Given the description of an element on the screen output the (x, y) to click on. 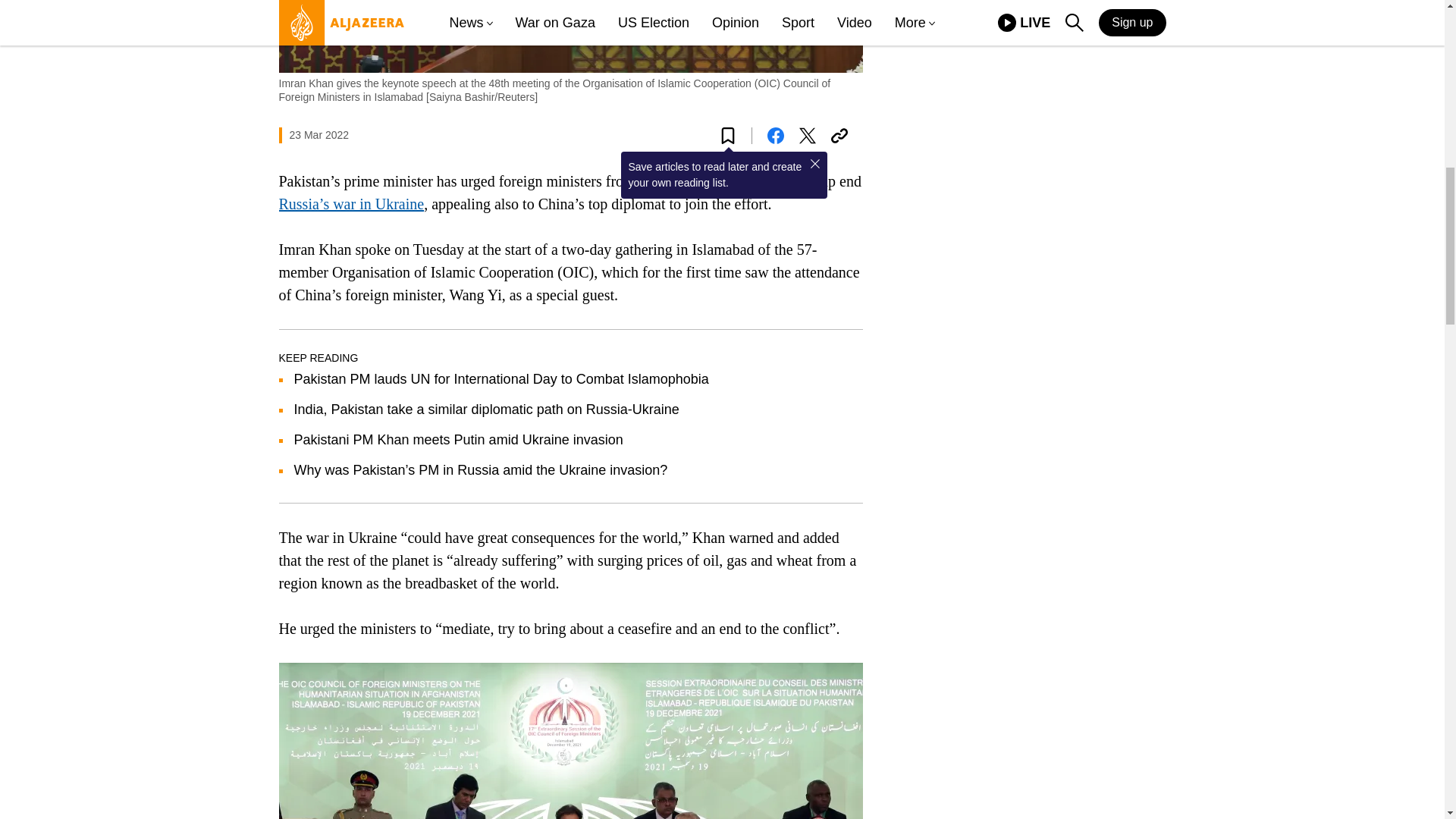
copylink (839, 135)
twitter (807, 135)
copylink (839, 135)
Close Tooltip (814, 163)
facebook (775, 135)
twitter (807, 135)
facebook (775, 135)
